Given the description of an element on the screen output the (x, y) to click on. 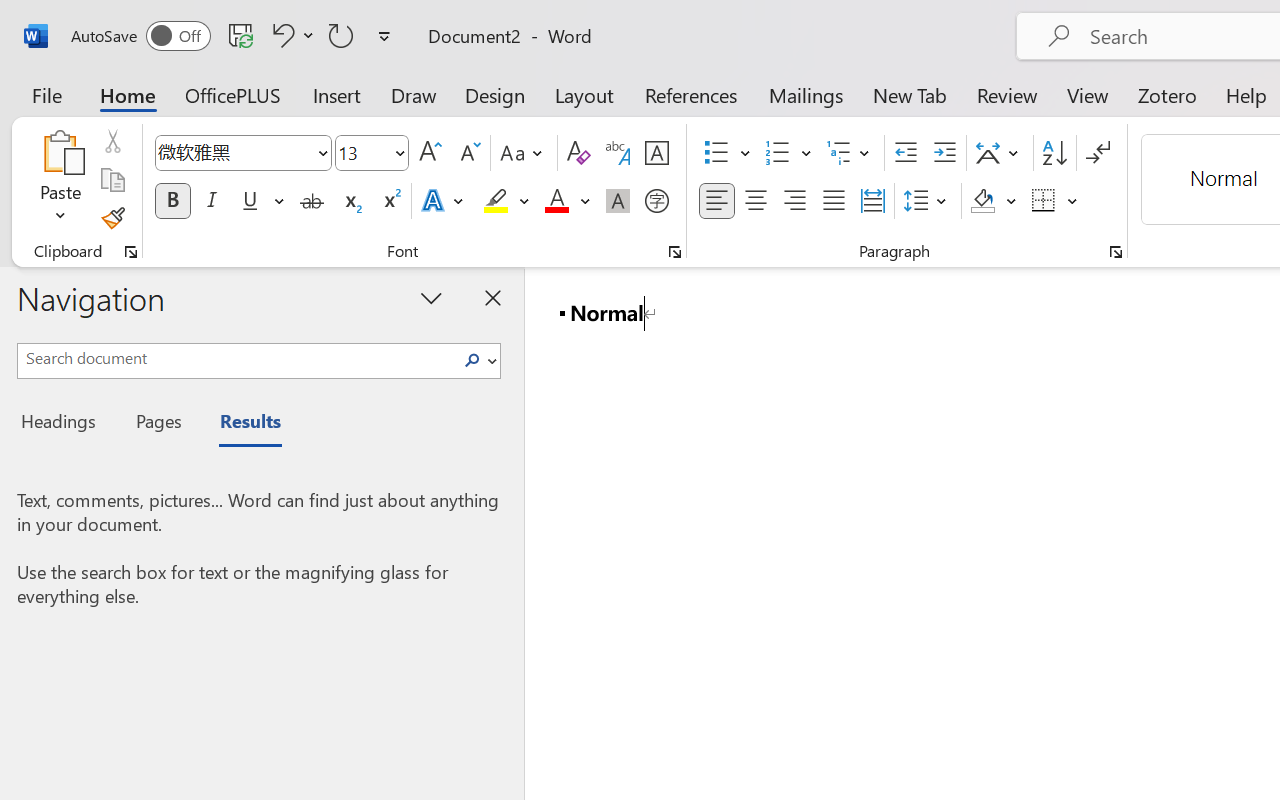
Line and Paragraph Spacing (927, 201)
Align Left (716, 201)
Search (478, 360)
Grow Font (430, 153)
Save (241, 35)
Subscript (350, 201)
Show/Hide Editing Marks (1098, 153)
